Given the description of an element on the screen output the (x, y) to click on. 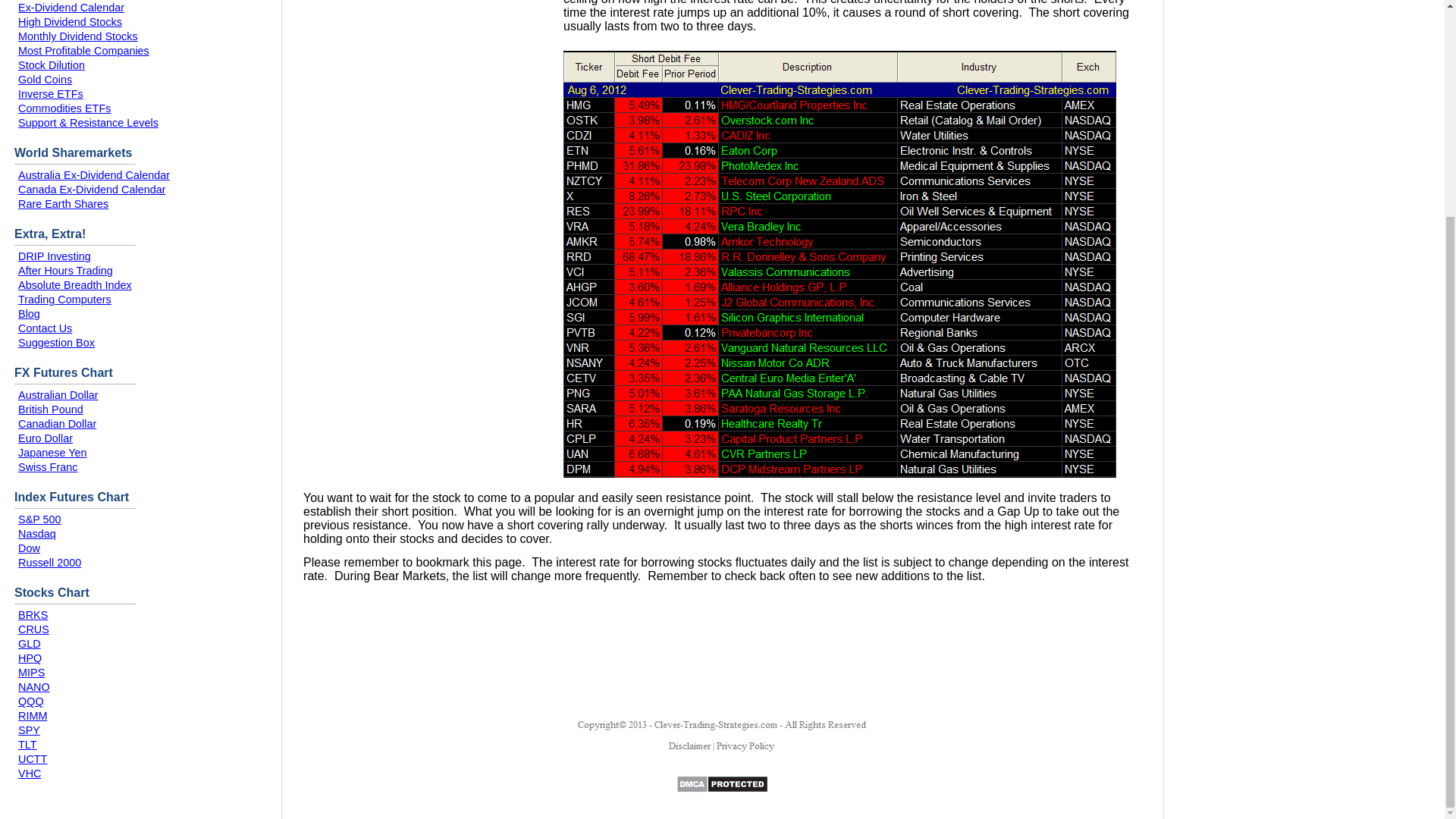
High Dividend Stocks (69, 21)
Inverse ETFs (49, 93)
Suggestion Box (55, 342)
After Hours Trading (65, 270)
Rare Earth Shares (62, 203)
Blog (28, 313)
Swiss Franc (47, 467)
Stock Dilution (50, 64)
Contact Us (44, 328)
Dow (28, 548)
